Given the description of an element on the screen output the (x, y) to click on. 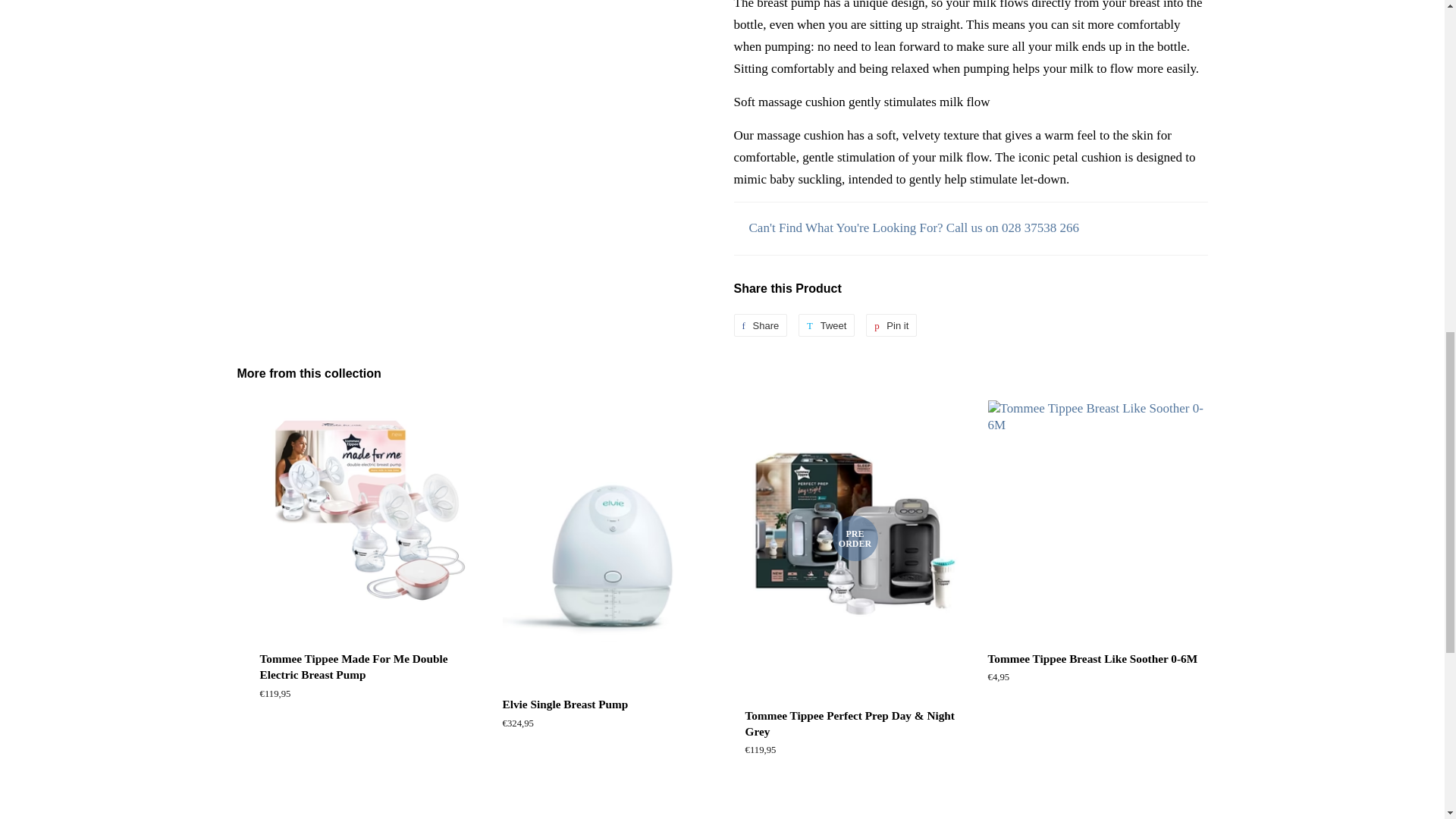
Pin on Pinterest (891, 324)
Share on Facebook (760, 324)
Tweet on Twitter (825, 324)
